Given the description of an element on the screen output the (x, y) to click on. 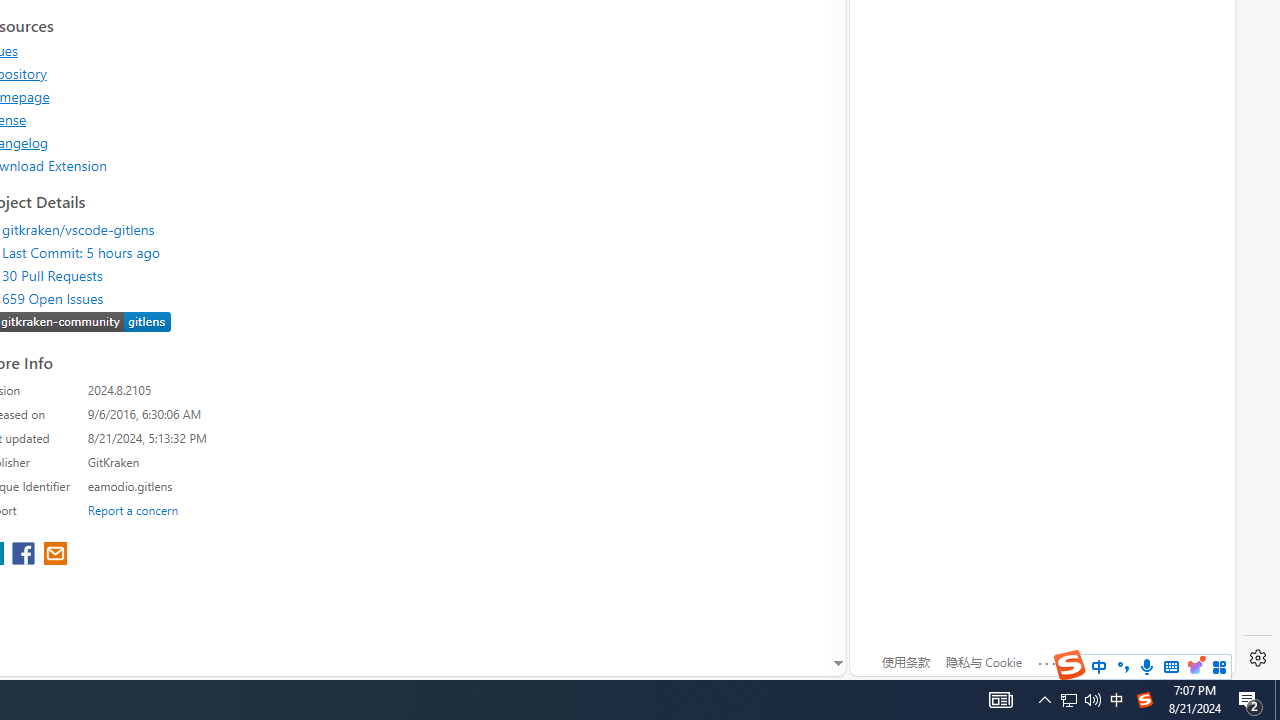
share extension on email (54, 555)
share extension on facebook (26, 555)
Report a concern (133, 509)
